Given the description of an element on the screen output the (x, y) to click on. 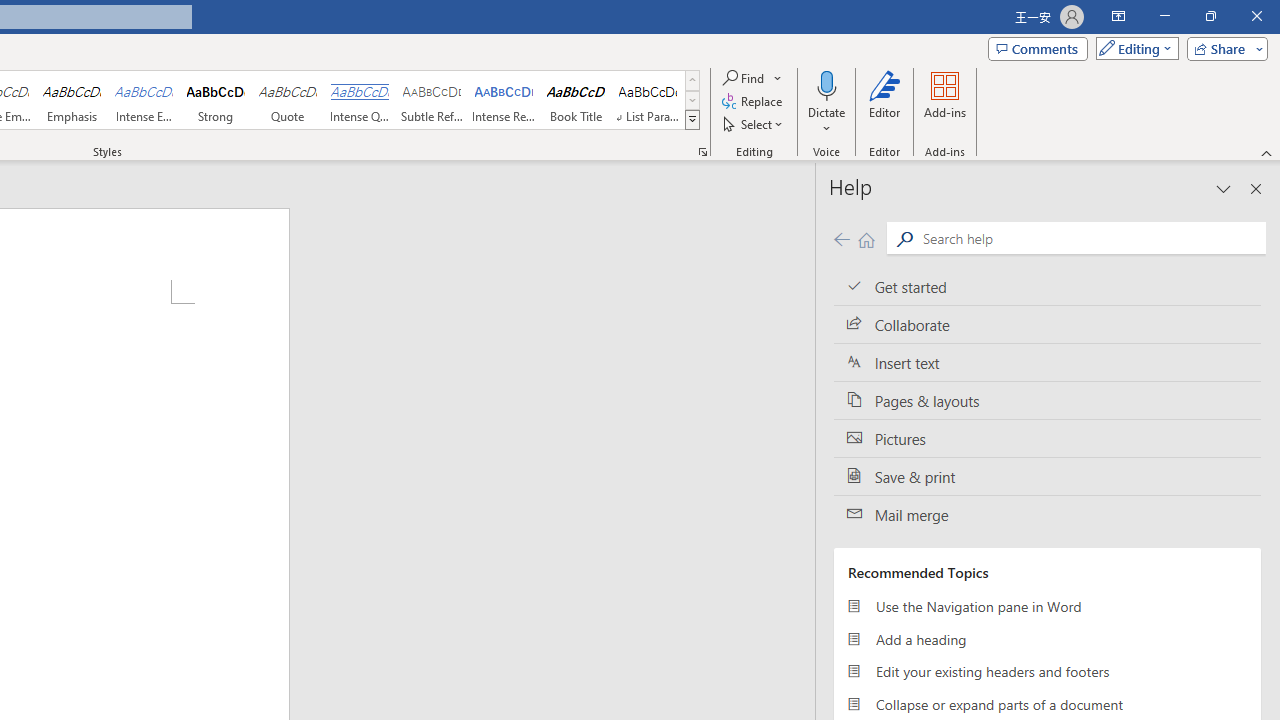
Select (754, 124)
Intense Quote (359, 100)
Previous page (841, 238)
Row Down (692, 100)
Strong (216, 100)
Use the Navigation pane in Word (1047, 605)
Quote (287, 100)
Add a heading (1047, 638)
